Given the description of an element on the screen output the (x, y) to click on. 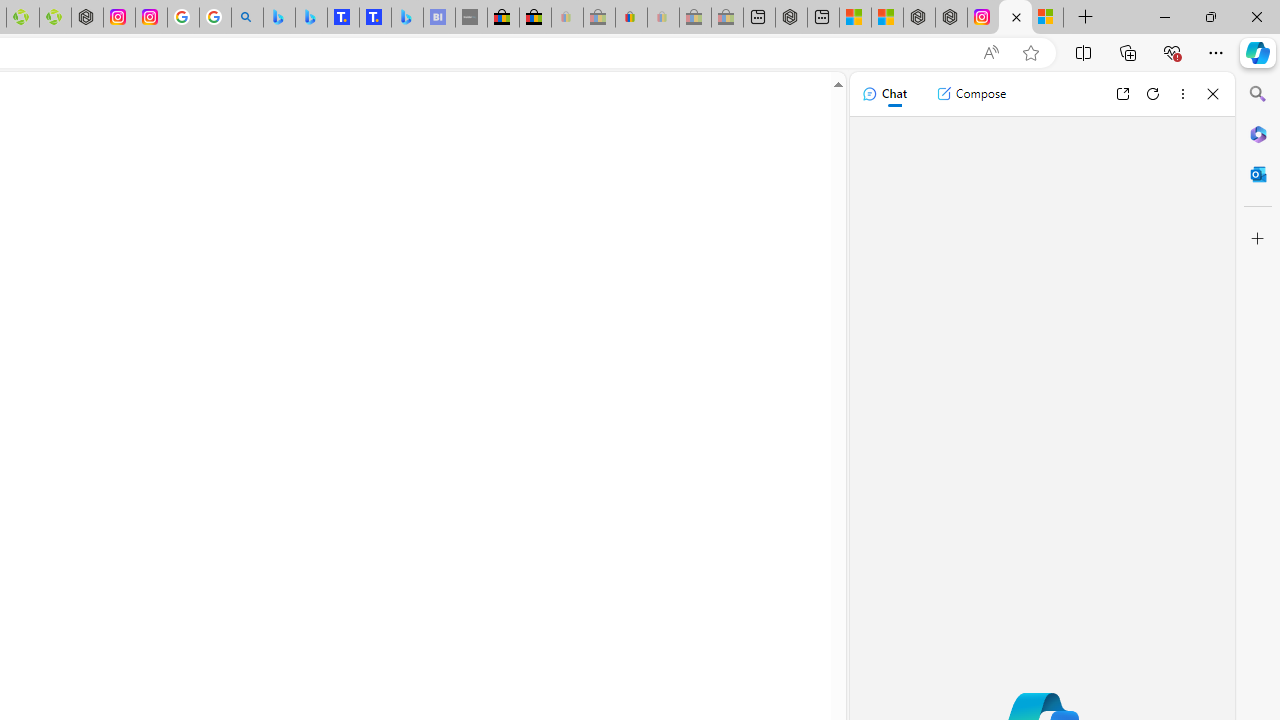
Microsoft Bing Travel - Shangri-La Hotel Bangkok (407, 17)
Payments Terms of Use | eBay.com - Sleeping (663, 17)
Press Room - eBay Inc. - Sleeping (694, 17)
Chat (884, 93)
